Given the description of an element on the screen output the (x, y) to click on. 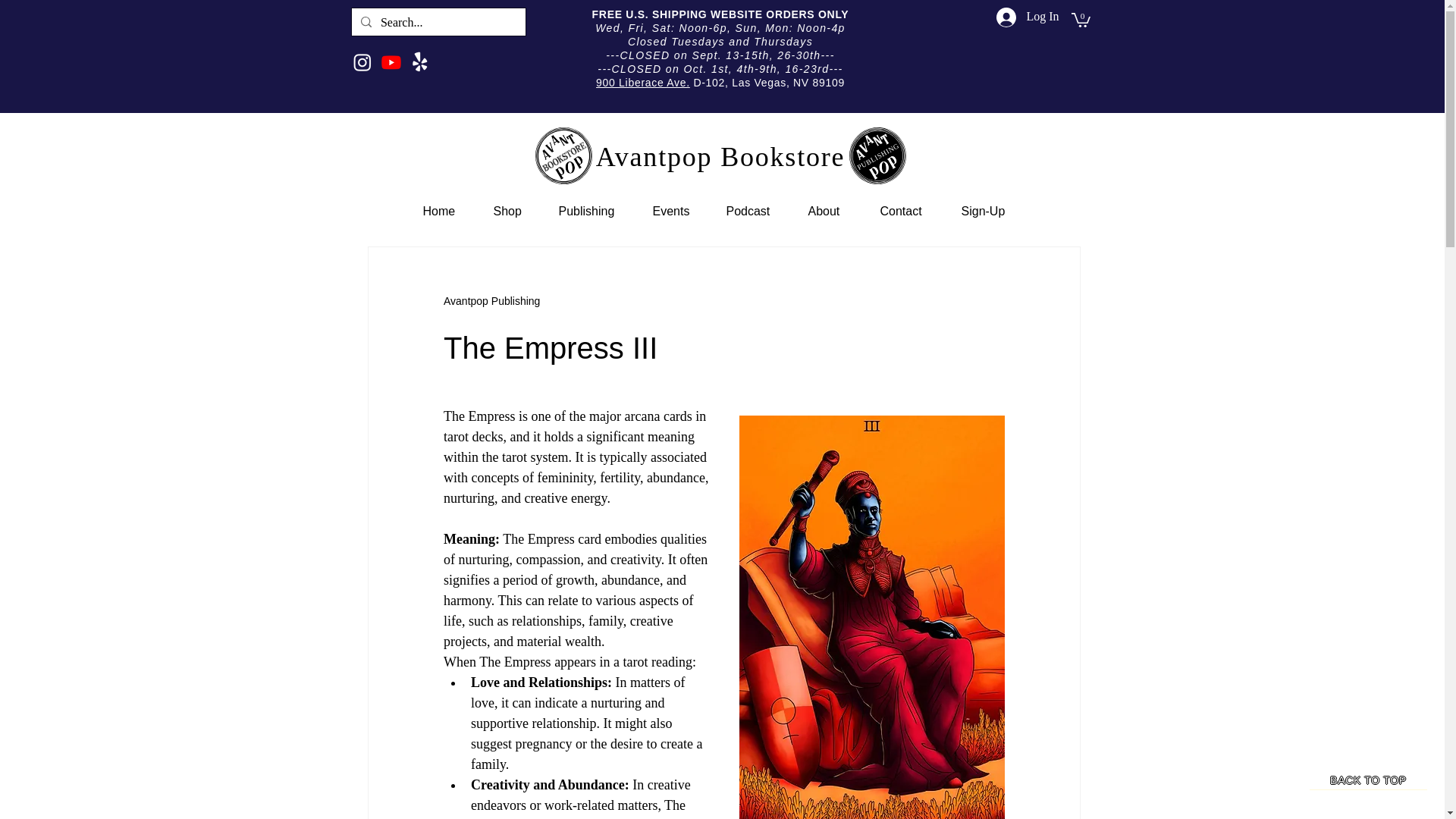
Sign-Up (989, 210)
Podcast (755, 210)
900 Liberace Ave. (642, 82)
PUBLISHING (876, 155)
Avantpop Publishing (492, 301)
0 (1079, 19)
Avantpop Publishing (492, 301)
Contact (909, 210)
Log In (1023, 17)
PUBLISHING (876, 155)
